Given the description of an element on the screen output the (x, y) to click on. 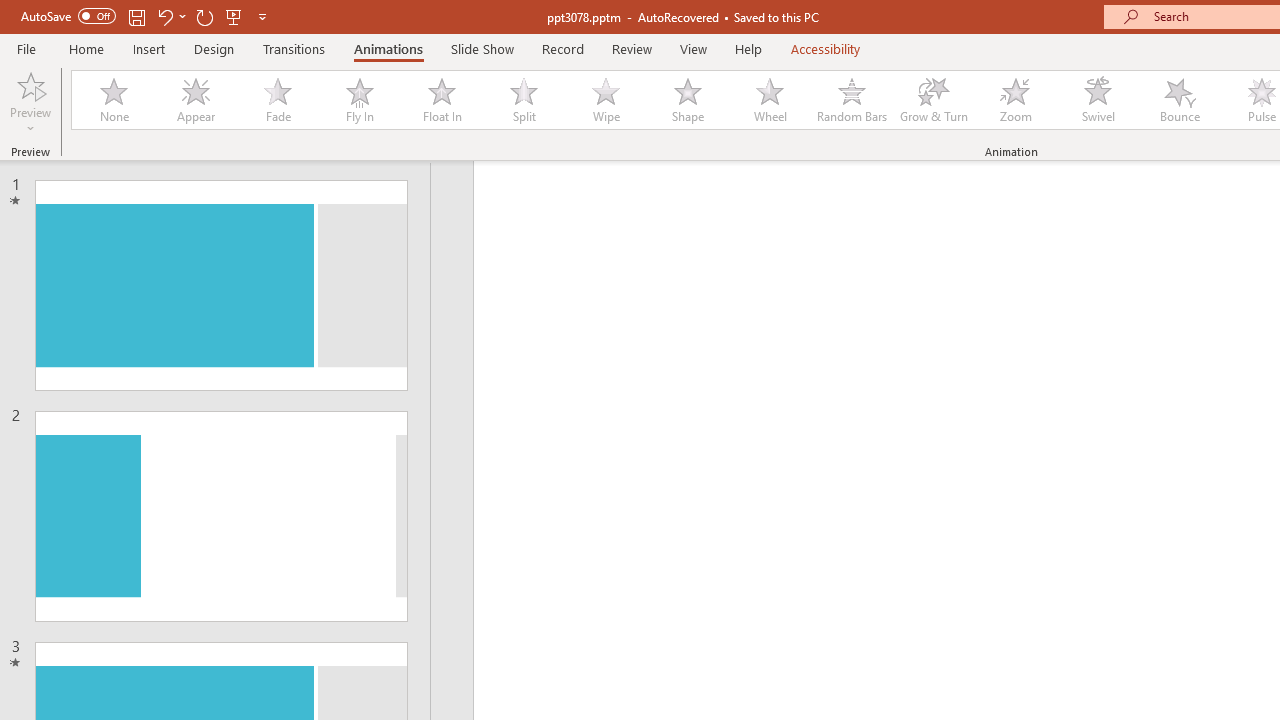
Wipe (605, 100)
Random Bars (852, 100)
Fade (277, 100)
Float In (441, 100)
Grow & Turn (934, 100)
Swivel (1098, 100)
